Given the description of an element on the screen output the (x, y) to click on. 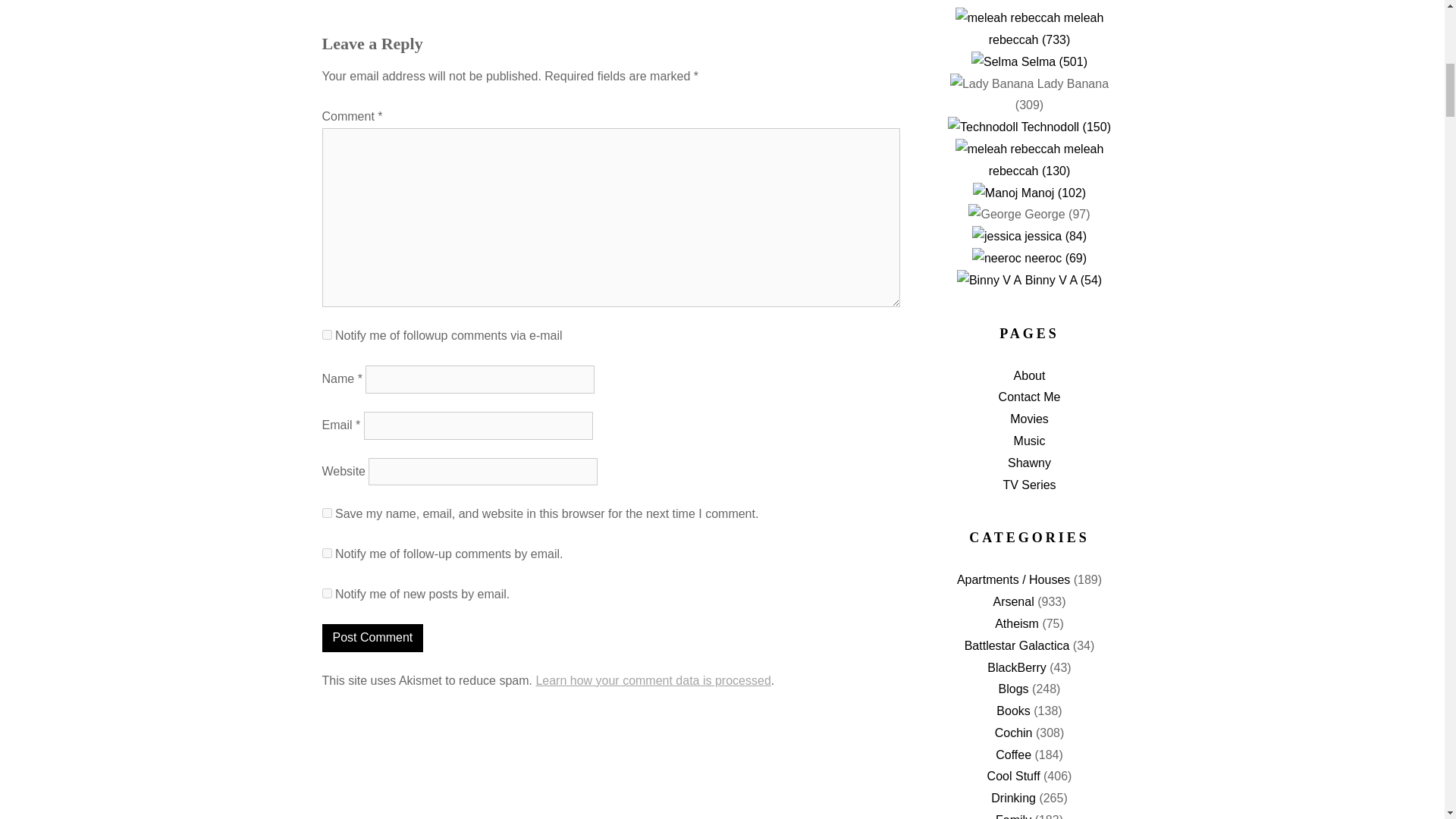
meleah rebeccah (1008, 149)
Lady Banana (991, 84)
Technodoll (982, 127)
Post Comment (372, 637)
Post Comment (372, 637)
subscribe (326, 552)
subscribe (326, 334)
meleah rebeccah (1008, 18)
yes (326, 512)
subscribe (326, 593)
